Given the description of an element on the screen output the (x, y) to click on. 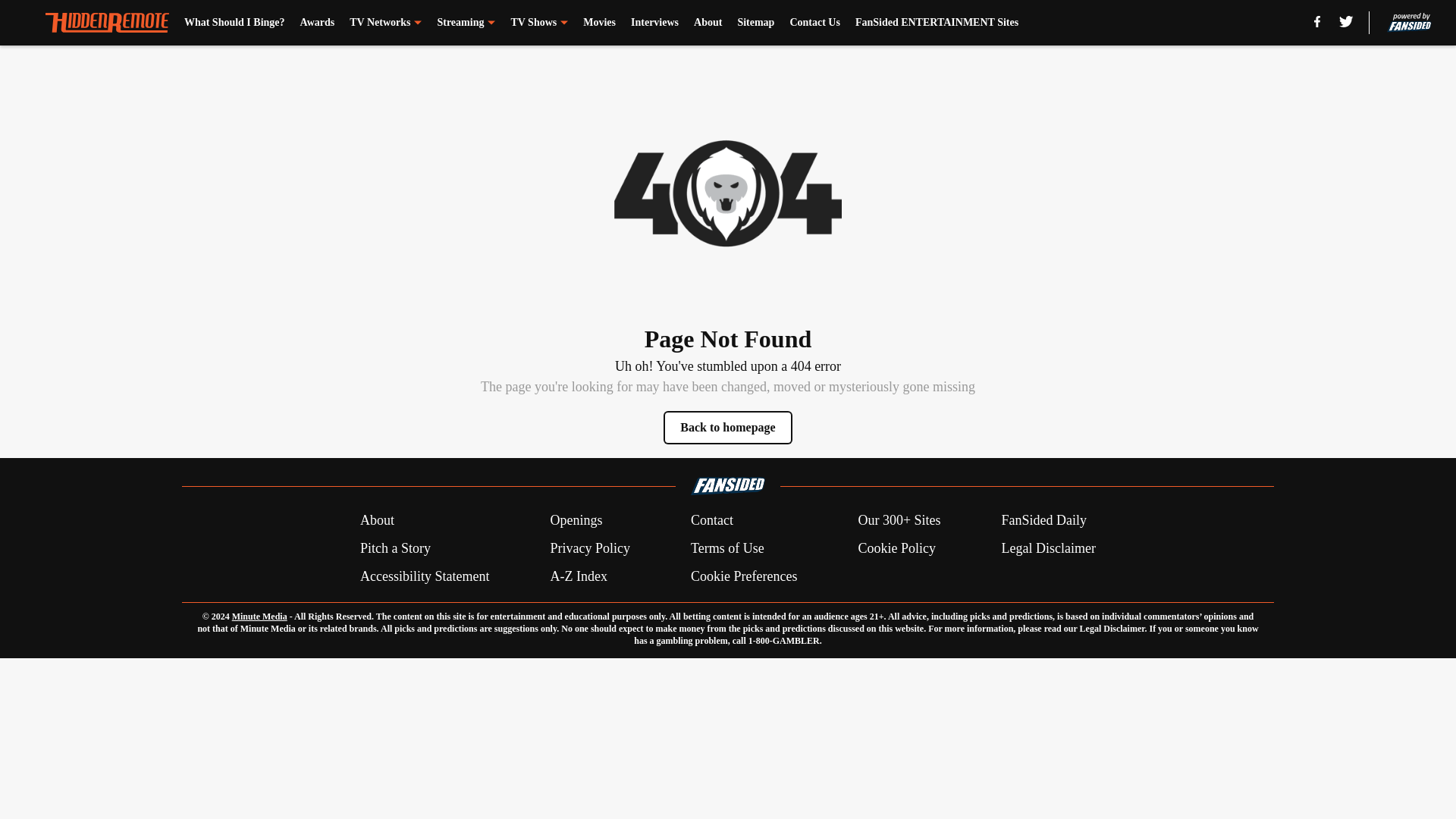
About (376, 520)
Back to homepage (727, 427)
Awards (316, 22)
Openings (576, 520)
About (708, 22)
Interviews (654, 22)
Movies (599, 22)
FanSided ENTERTAINMENT Sites (936, 22)
Error image (727, 193)
Sitemap (755, 22)
